Given the description of an element on the screen output the (x, y) to click on. 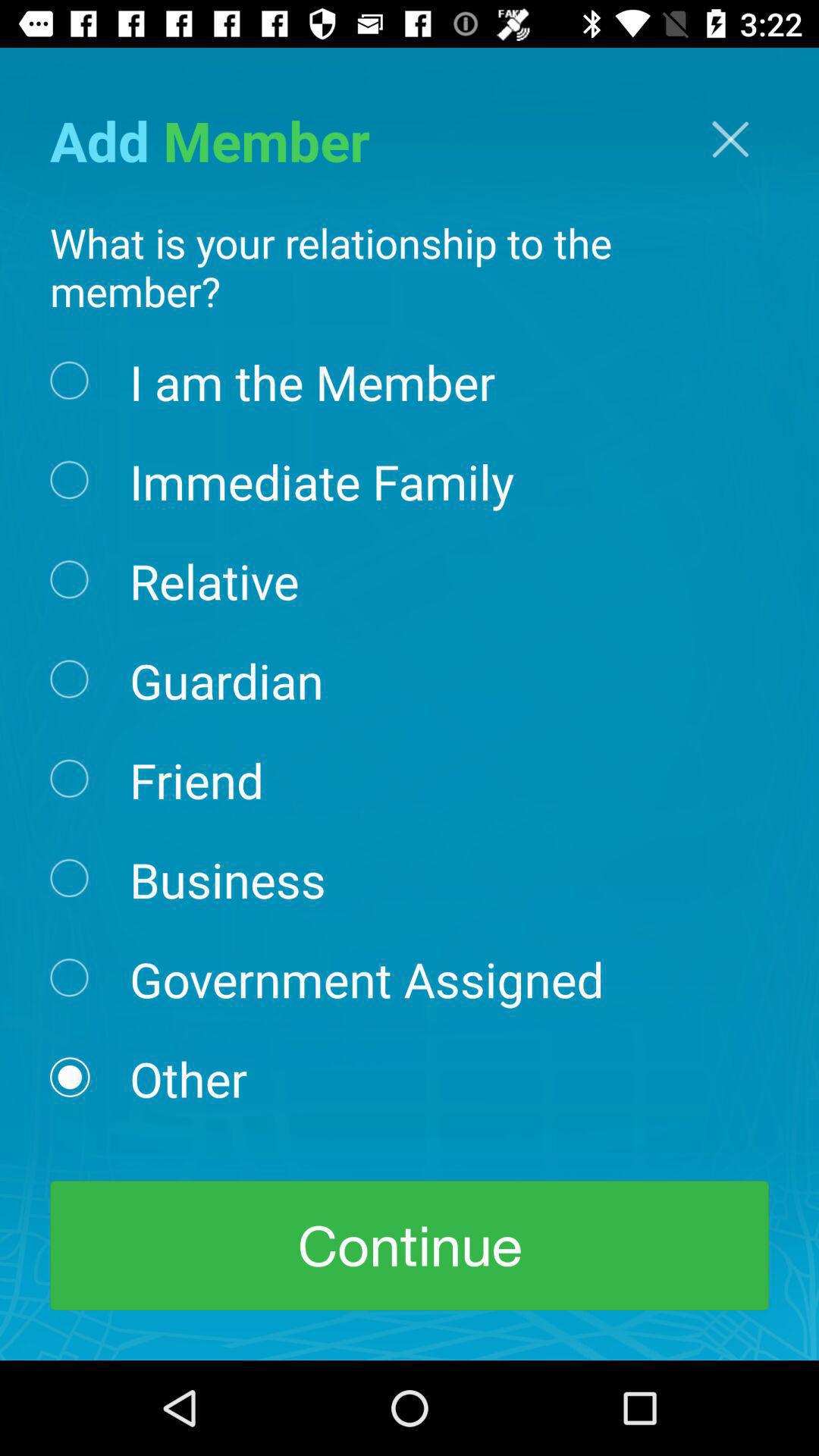
turn off the icon above guardian icon (214, 579)
